Given the description of an element on the screen output the (x, y) to click on. 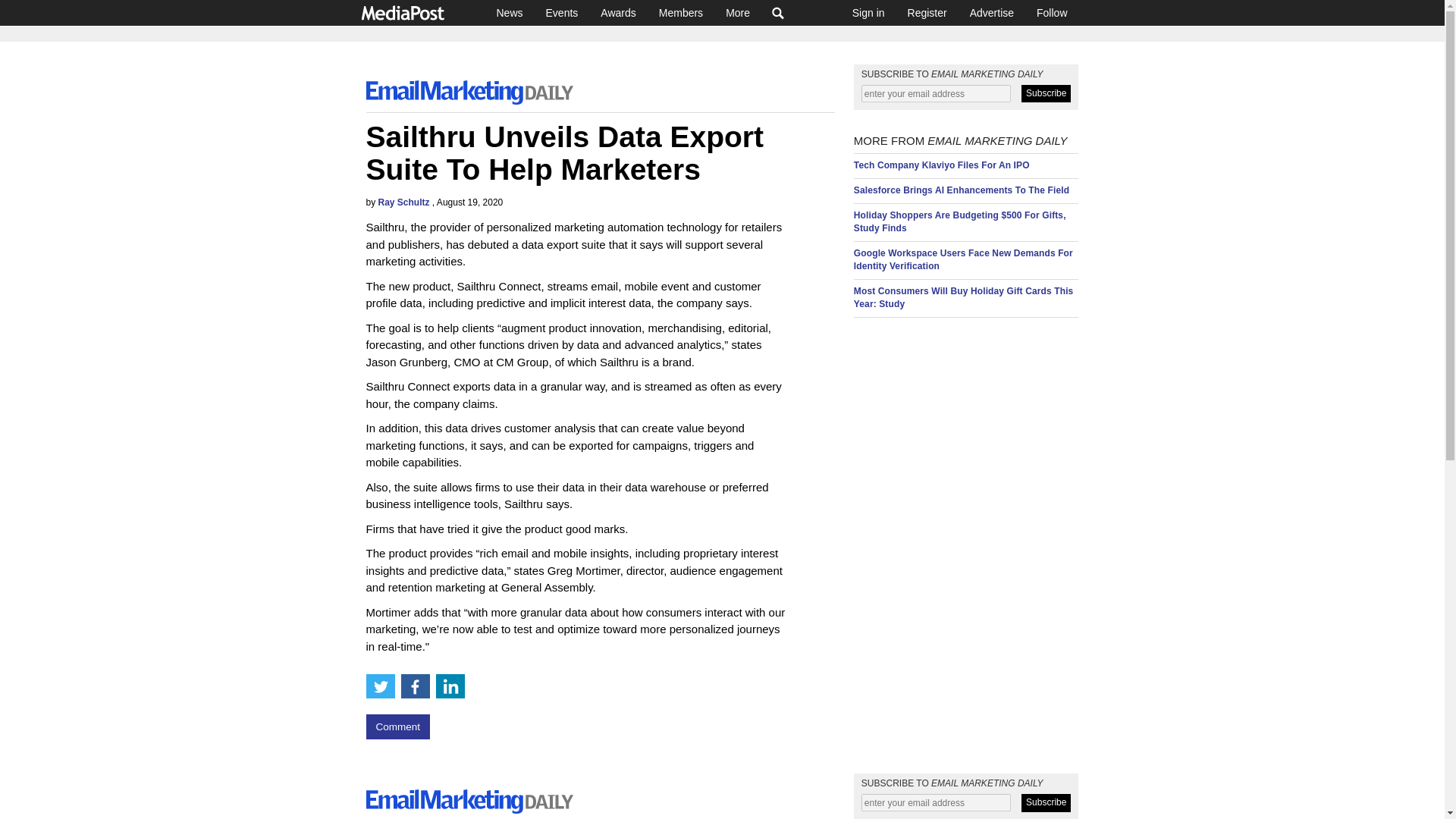
Share on LinkedIn (449, 686)
Subscribe (1046, 93)
Subscribe (1046, 802)
Share on Facebook (414, 686)
News (509, 12)
Share on Twitter (379, 686)
